Given the description of an element on the screen output the (x, y) to click on. 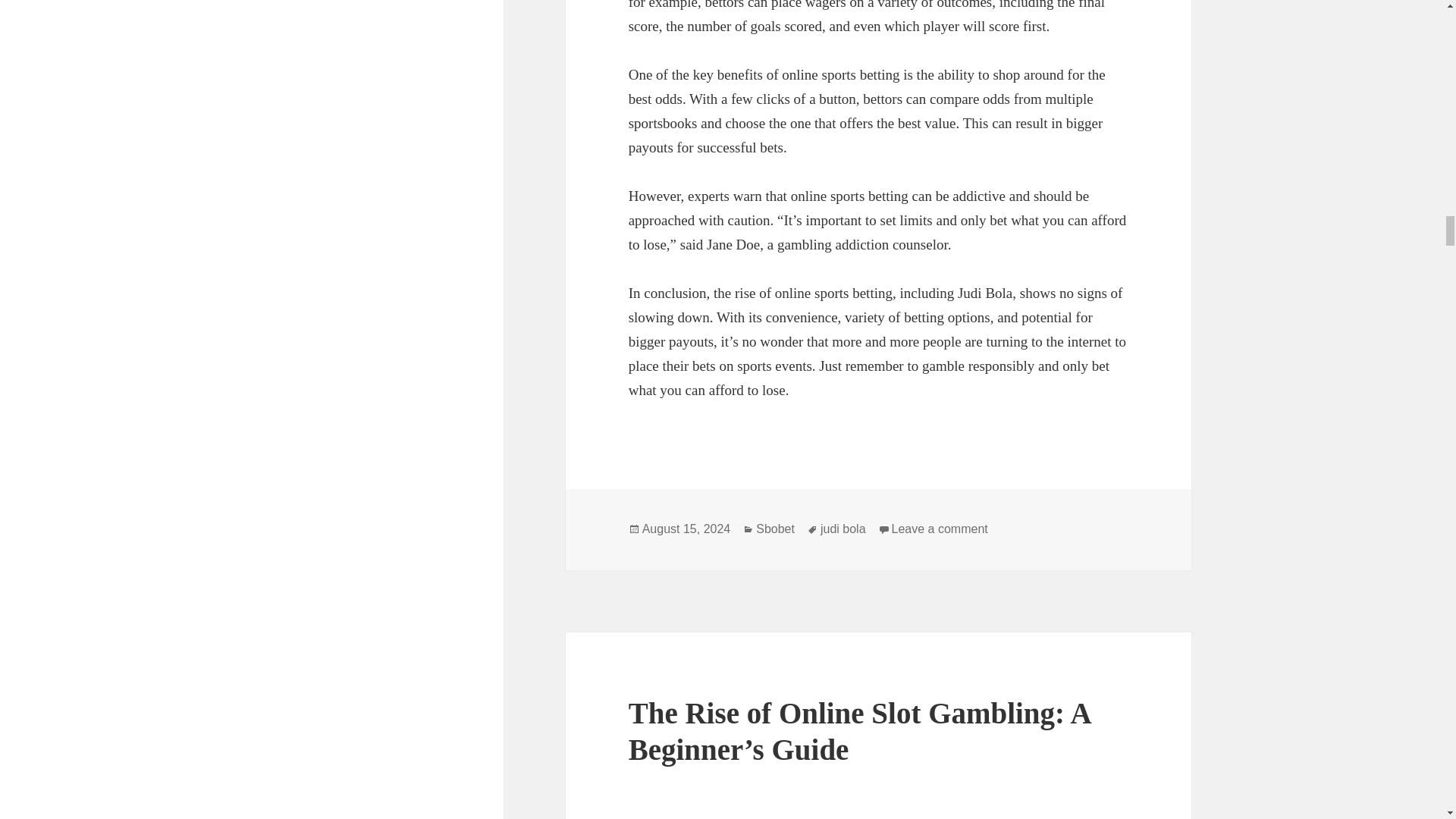
judi bola (843, 529)
August 15, 2024 (686, 529)
Sbobet (774, 529)
